Given the description of an element on the screen output the (x, y) to click on. 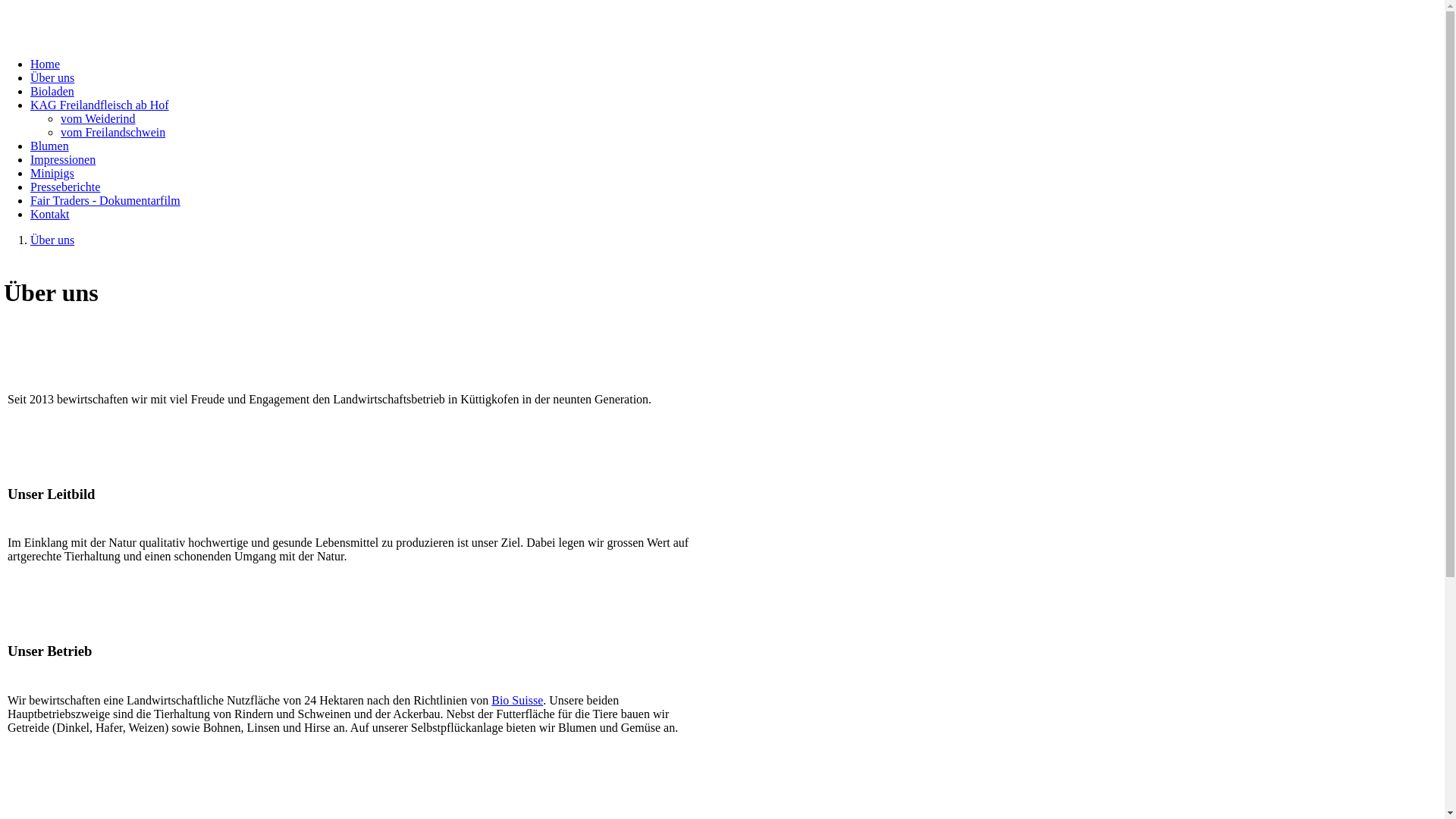
Blumen Element type: text (49, 145)
Bioladen Element type: text (52, 90)
Kontakt Element type: text (49, 213)
Presseberichte Element type: text (65, 186)
vom Weiderind Element type: text (97, 118)
Bio Suisse Element type: text (516, 699)
Minipigs Element type: text (52, 172)
vom Freilandschwein Element type: text (112, 131)
Home Element type: text (44, 63)
KAG Freilandfleisch ab Hof Element type: text (99, 104)
Fair Traders - Dokumentarfilm Element type: text (105, 200)
Impressionen Element type: text (62, 159)
